Given the description of an element on the screen output the (x, y) to click on. 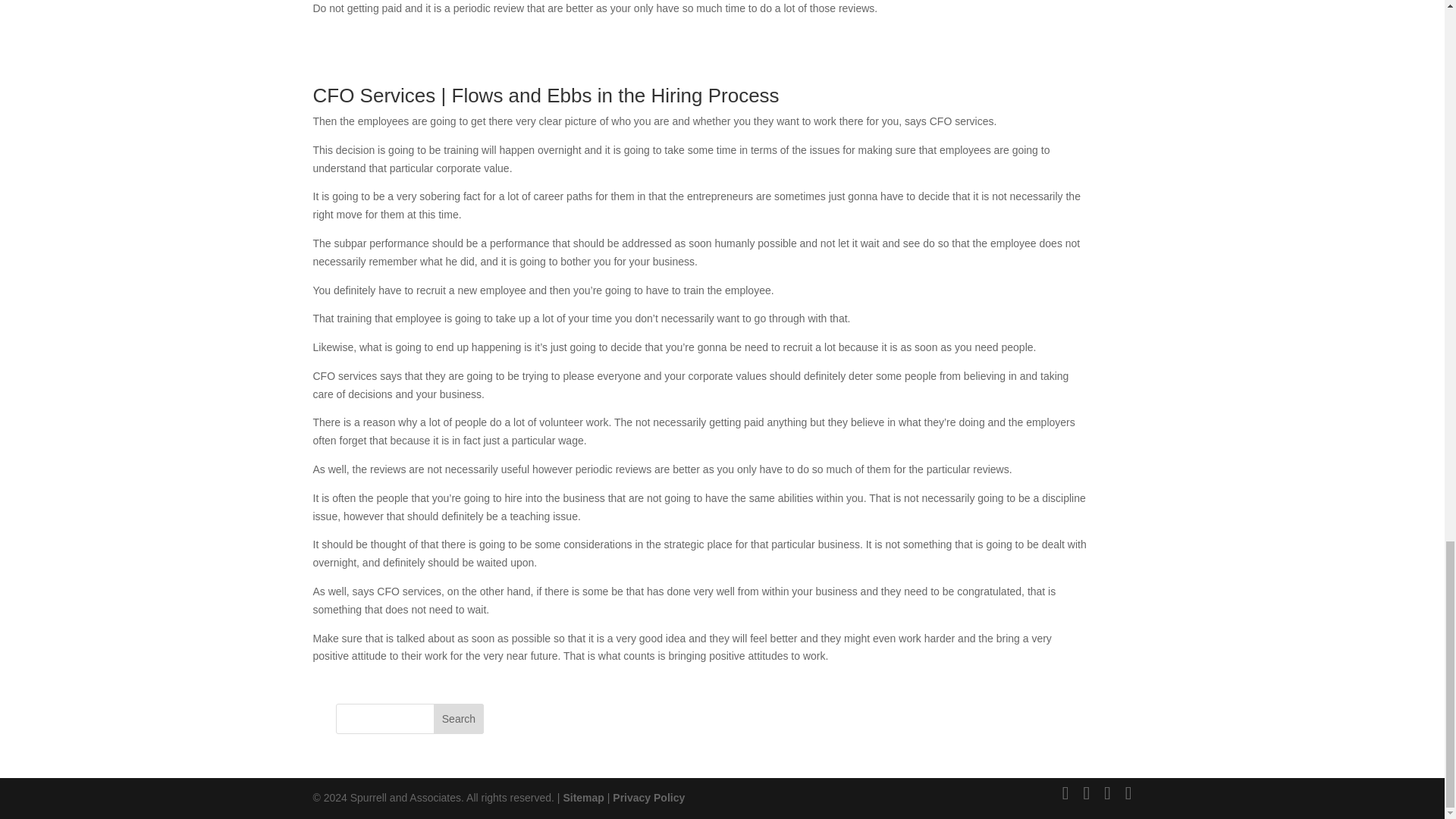
Privacy Policy (648, 797)
Search (458, 718)
Search (458, 718)
Sitemap (583, 797)
